Given the description of an element on the screen output the (x, y) to click on. 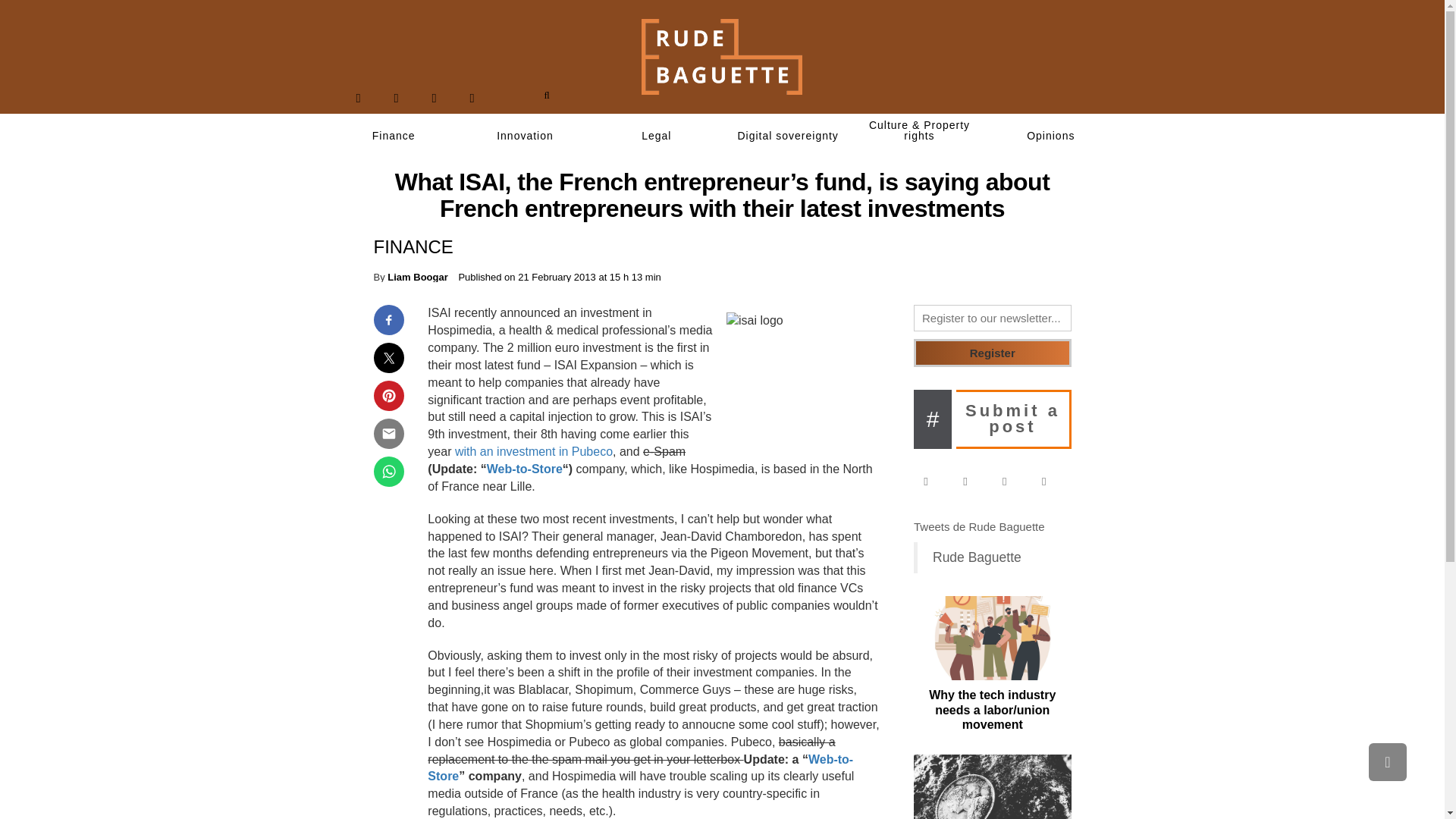
Register (992, 352)
RSS (472, 97)
Scroll to top (1387, 761)
Posts by Liam Boogar (416, 276)
21 February 2013 at 15 h 13 min (589, 276)
Opinions (1051, 135)
Scroll to top (1387, 761)
with an investment in Pubeco (533, 451)
Rude Baguette (977, 557)
Web-to-Store (640, 767)
Scroll to top (1387, 761)
Twitter (972, 481)
Innovation (524, 135)
Tweets de Rude Baguette (979, 526)
Legal (656, 135)
